Given the description of an element on the screen output the (x, y) to click on. 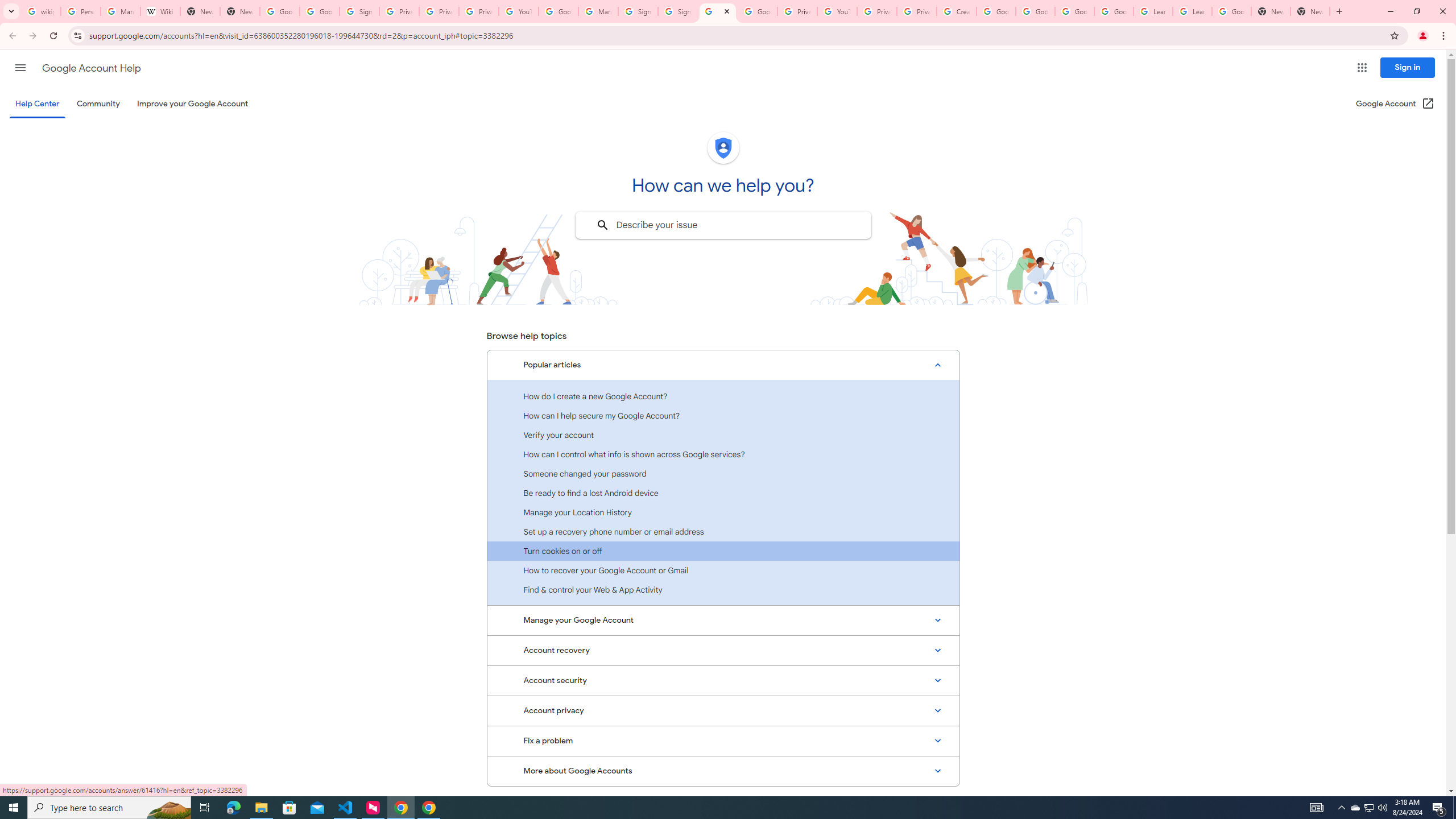
Community (97, 103)
New Tab (1270, 11)
Main menu (20, 67)
Sign in - Google Accounts (359, 11)
Wikipedia:Edit requests - Wikipedia (159, 11)
Google Account (Open in a new window) (1395, 103)
Find & control your Web & App Activity (722, 589)
Manage your Location History - Google Search Help (120, 11)
New Tab (239, 11)
Sign in - Google Accounts (637, 11)
YouTube (518, 11)
